Given the description of an element on the screen output the (x, y) to click on. 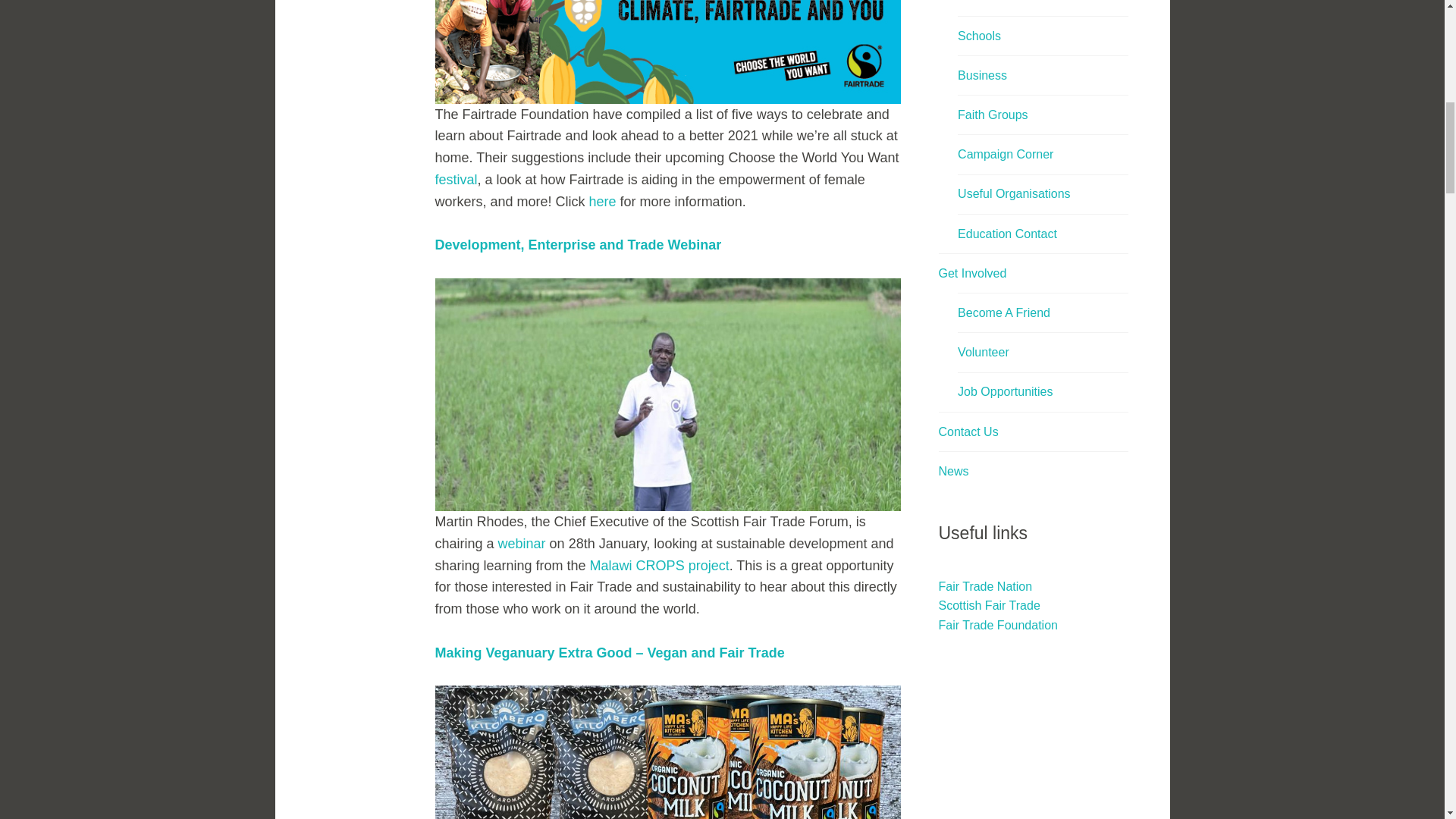
webinar (521, 543)
Malawi CROPS project (659, 565)
festival (456, 179)
here (602, 201)
Development, Enterprise and Trade Webinar (578, 244)
